Given the description of an element on the screen output the (x, y) to click on. 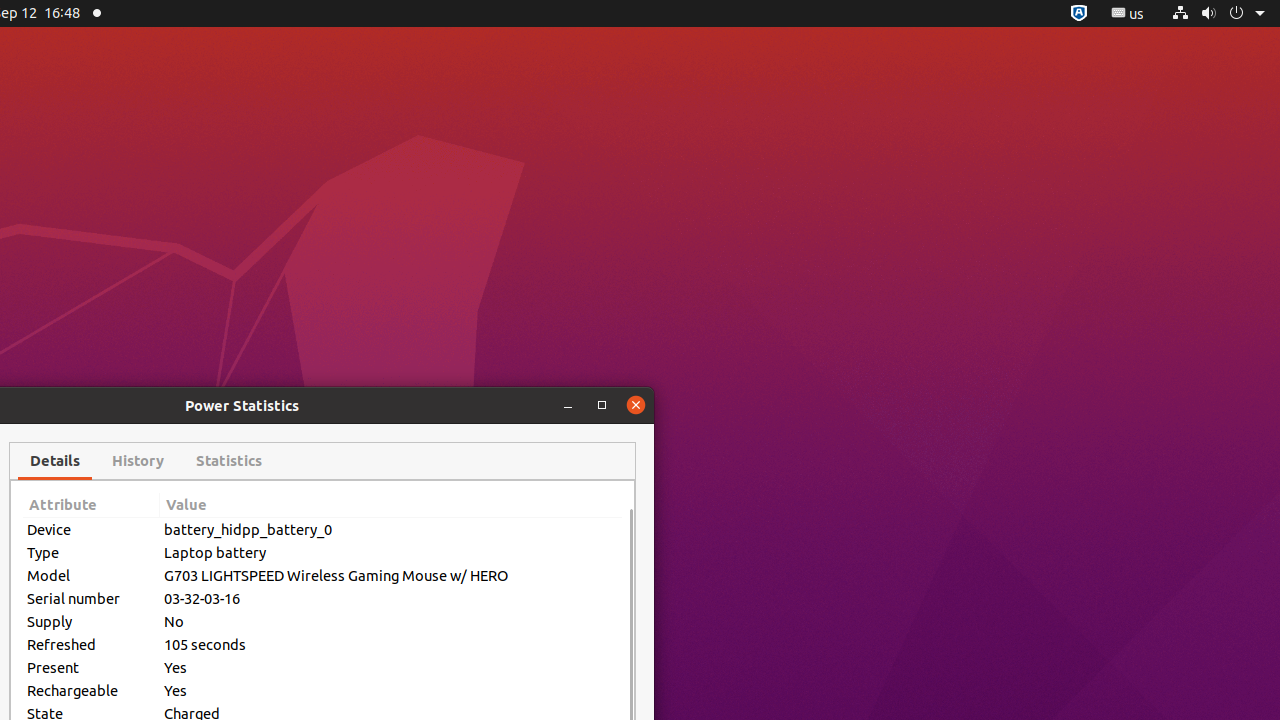
G703 LIGHTSPEED Wireless Gaming Mouse w/ HERO Element type: table-cell (391, 575)
